Given the description of an element on the screen output the (x, y) to click on. 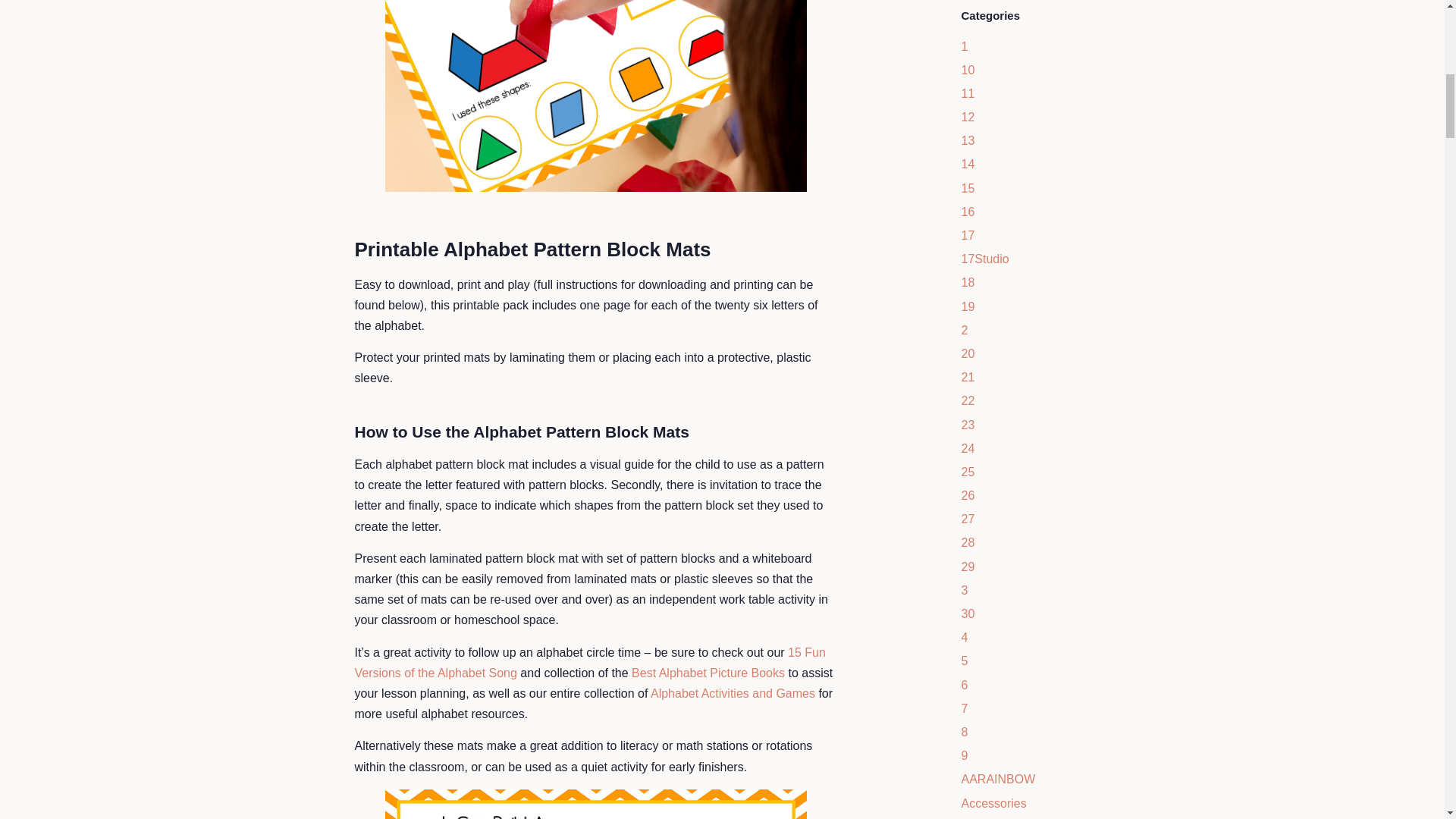
12 (967, 116)
Show articles tagged 13 (967, 140)
Show articles tagged 11 (967, 92)
Show articles tagged 17Studio (984, 258)
13 (967, 140)
Show articles tagged 12 (967, 116)
Show articles tagged 19 (967, 306)
Show articles tagged 18 (967, 282)
Show articles tagged 22 (967, 400)
Show articles tagged 15 (967, 187)
